Given the description of an element on the screen output the (x, y) to click on. 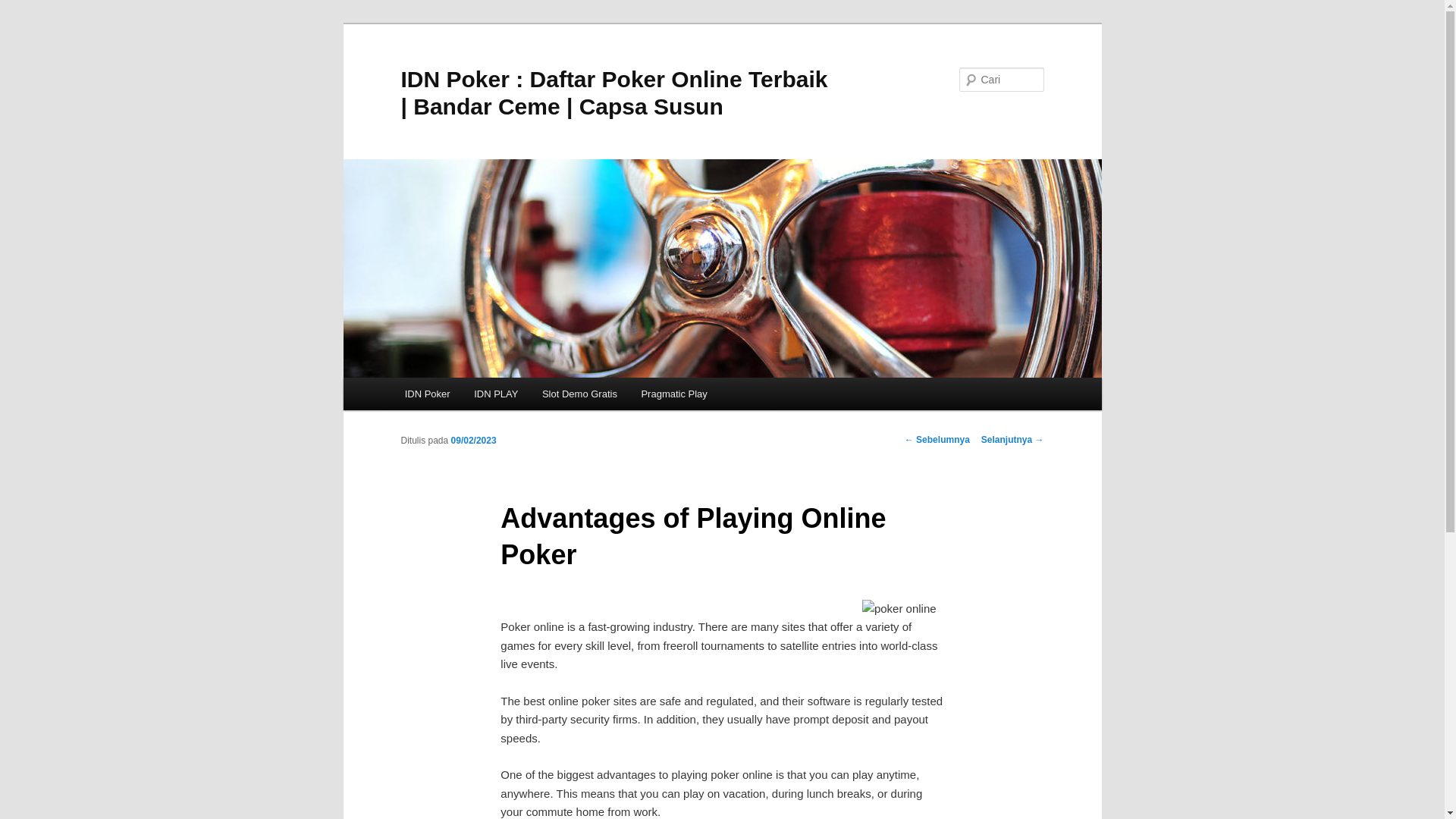
IDN Poker (427, 393)
Slot Demo Gratis (578, 393)
IDN PLAY (495, 393)
02:27 (473, 439)
Cari (16, 8)
Pragmatic Play (673, 393)
